Given the description of an element on the screen output the (x, y) to click on. 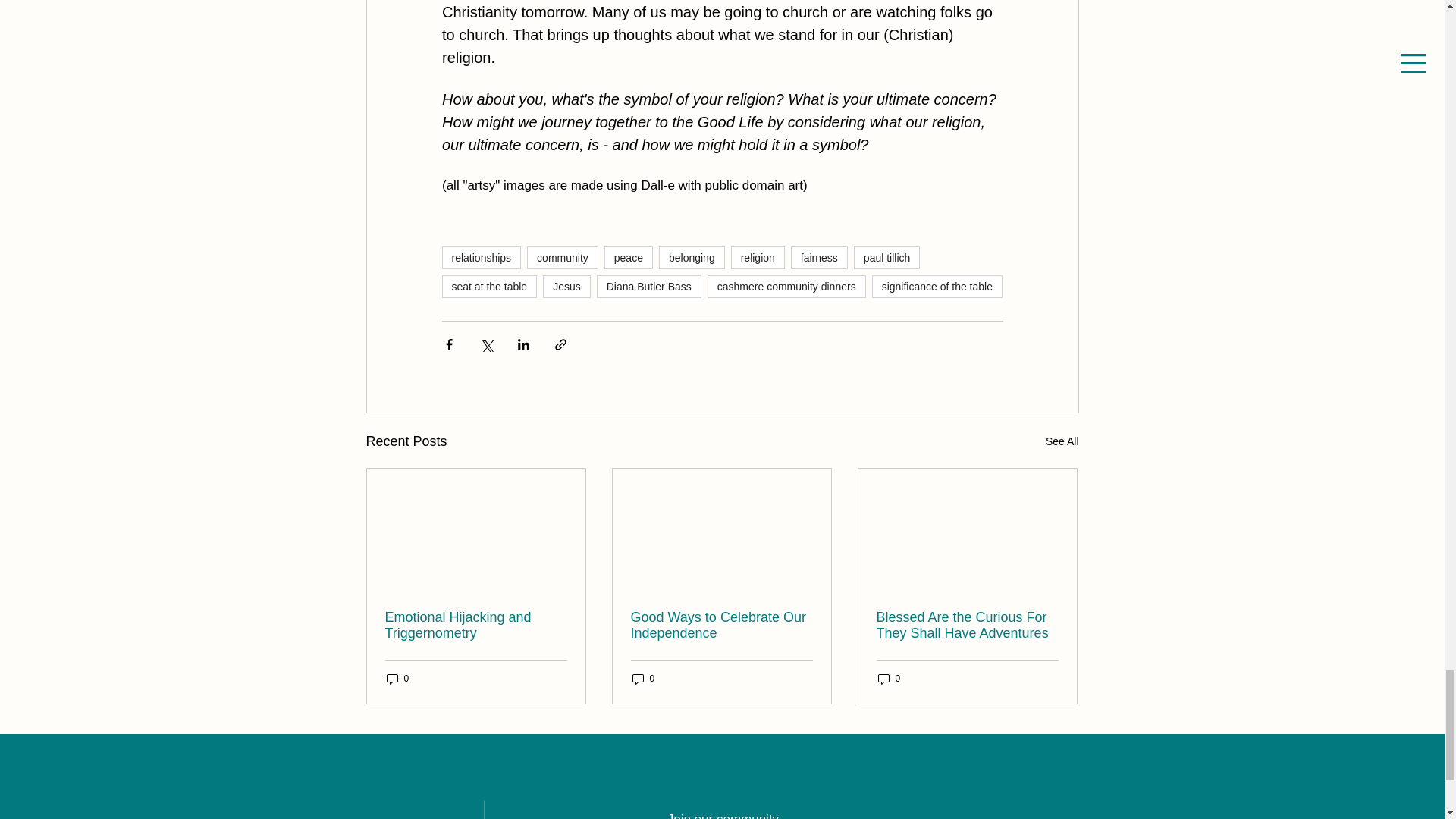
paul tillich (886, 257)
community (562, 257)
See All (1061, 441)
belonging (692, 257)
significance of the table (937, 286)
Emotional Hijacking and Triggernometry (476, 625)
Blessed Are the Curious For They Shall Have Adventures (967, 625)
relationships (481, 257)
0 (643, 678)
seat at the table (489, 286)
0 (397, 678)
cashmere community dinners (786, 286)
fairness (818, 257)
religion (757, 257)
peace (628, 257)
